Given the description of an element on the screen output the (x, y) to click on. 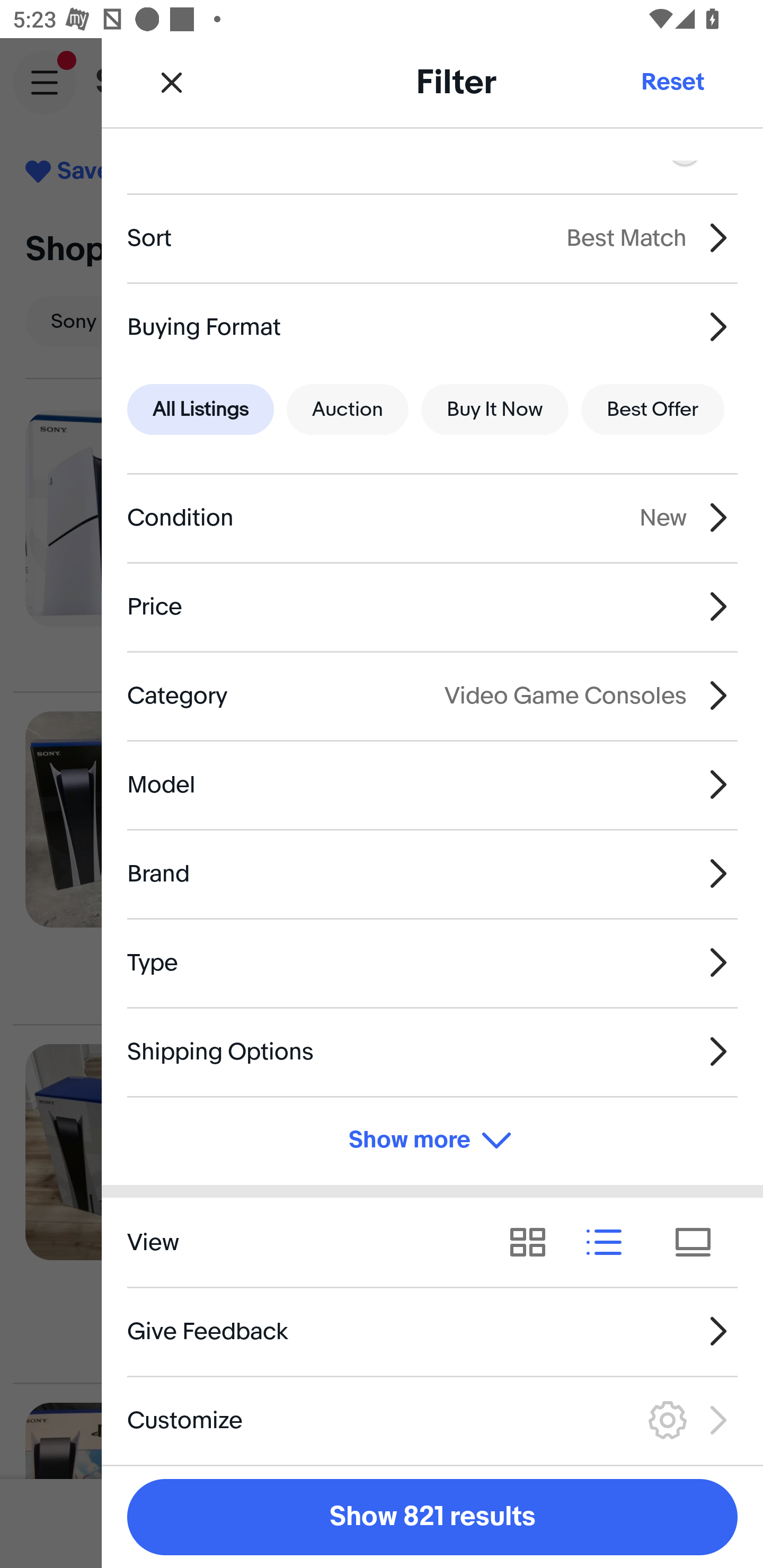
Close Filter (171, 81)
Reset (672, 81)
Buying Format (432, 326)
All Listings (200, 408)
Auction (347, 408)
Buy It Now (494, 408)
Best Offer (652, 408)
Condition New (432, 517)
Price (432, 605)
Category Video Game Consoles (432, 695)
Model (432, 784)
Brand (432, 873)
Type (432, 961)
Shipping Options (432, 1051)
Show more (432, 1140)
View results as grid (533, 1242)
View results as list (610, 1242)
View results as tiles (699, 1242)
Customize (432, 1419)
Show 821 results (432, 1516)
